Given the description of an element on the screen output the (x, y) to click on. 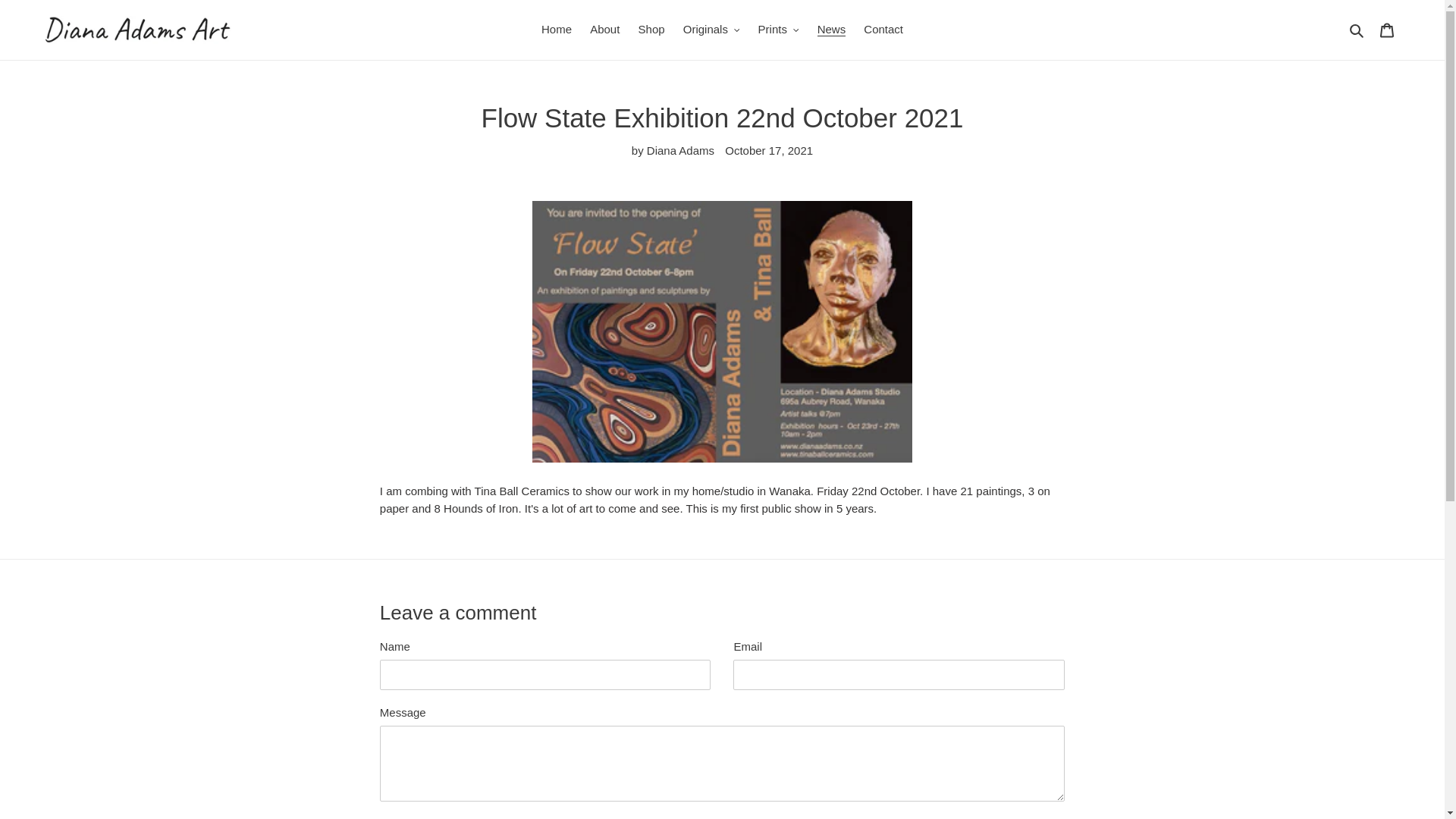
Contact (883, 29)
Originals (711, 29)
News (831, 29)
Cart (1387, 29)
Shop (651, 29)
About (604, 29)
Search (1357, 29)
Prints (778, 29)
Home (556, 29)
